Given the description of an element on the screen output the (x, y) to click on. 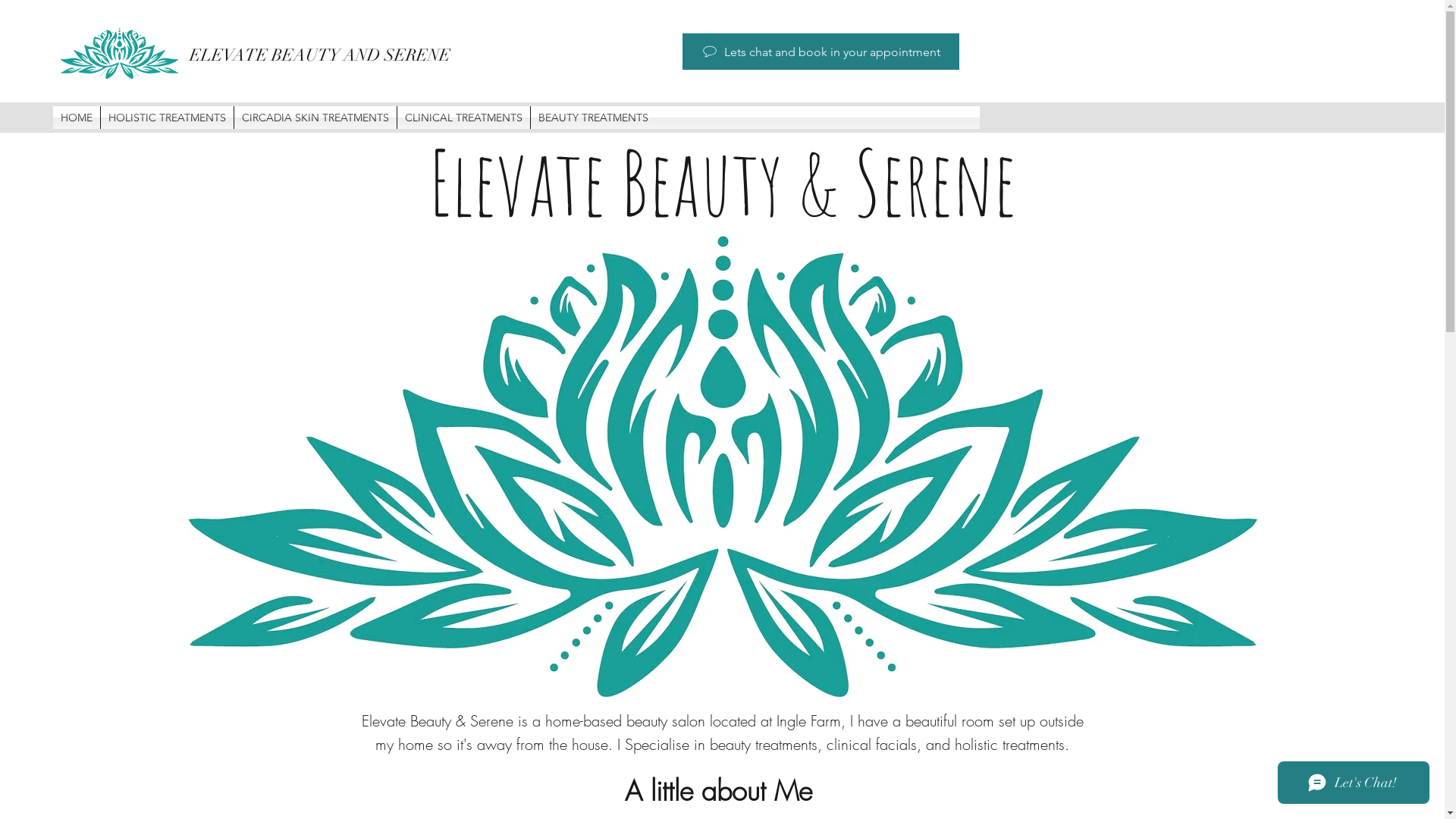
BEAUTY TREATMENTS Element type: text (592, 117)
ELEVATE BEAUTY AND SERENE Element type: text (319, 54)
CIRCADIA SKIN TREATMENTS Element type: text (315, 117)
CLINICAL TREATMENTS Element type: text (463, 117)
HOLISTIC TREATMENTS Element type: text (166, 117)
Lets chat and book in your appointment Element type: text (820, 51)
HOME Element type: text (76, 117)
